Given the description of an element on the screen output the (x, y) to click on. 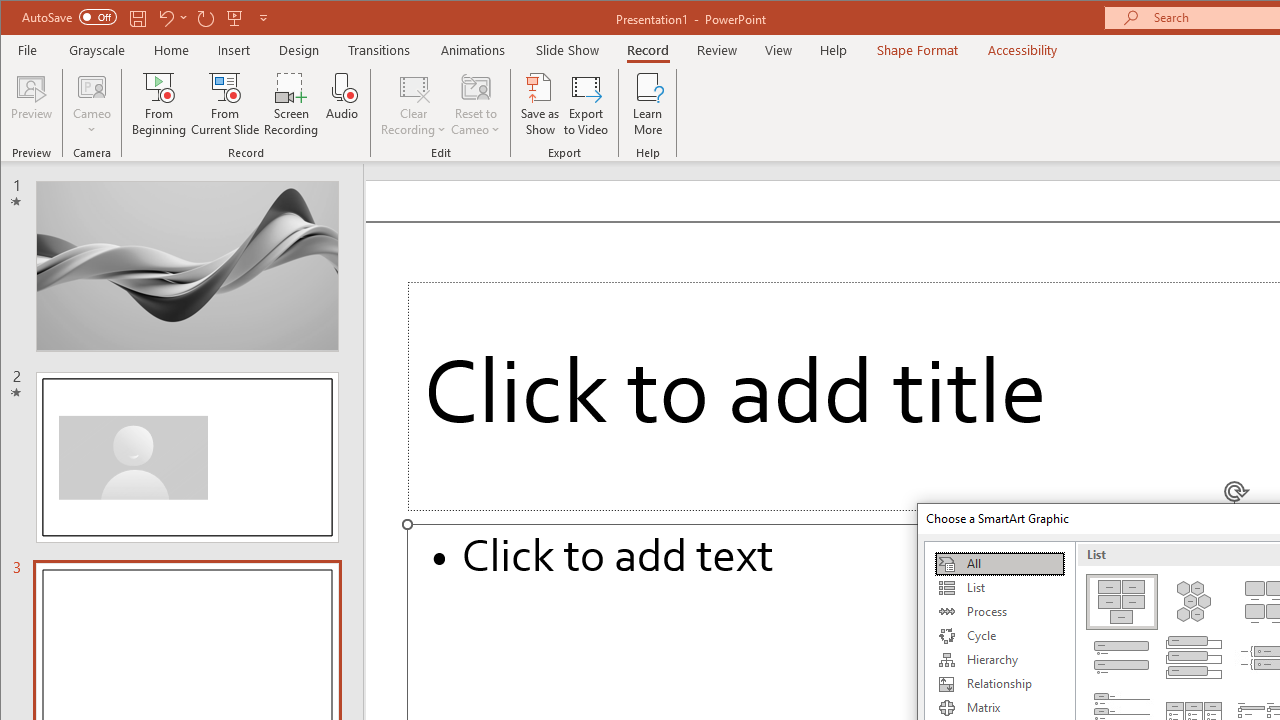
From Current Slide... (225, 104)
Screen Recording (291, 104)
Matrix (999, 708)
Reset to Cameo (476, 104)
Alternating Hexagons (1194, 601)
Cycle (999, 636)
Grayscale (97, 50)
Export to Video (585, 104)
